Given the description of an element on the screen output the (x, y) to click on. 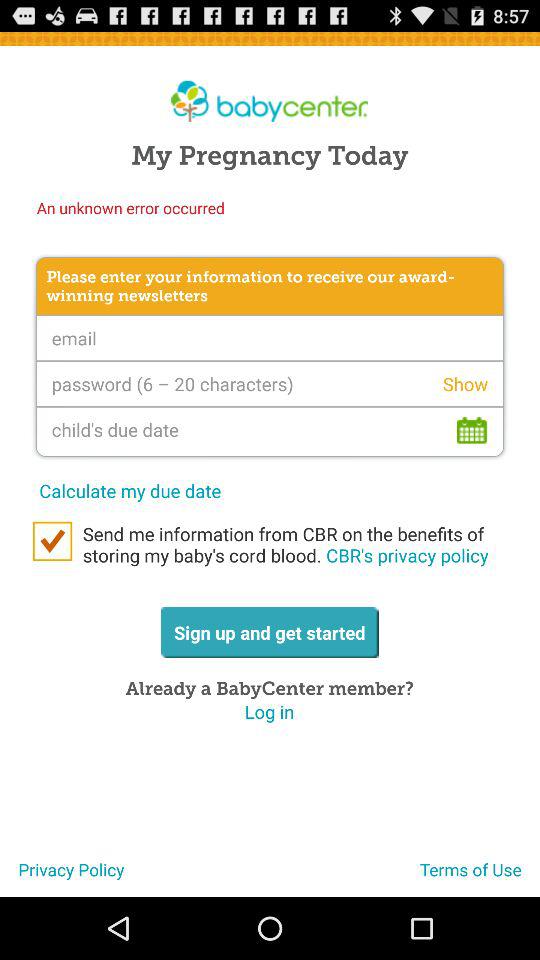
type email address (270, 338)
